Given the description of an element on the screen output the (x, y) to click on. 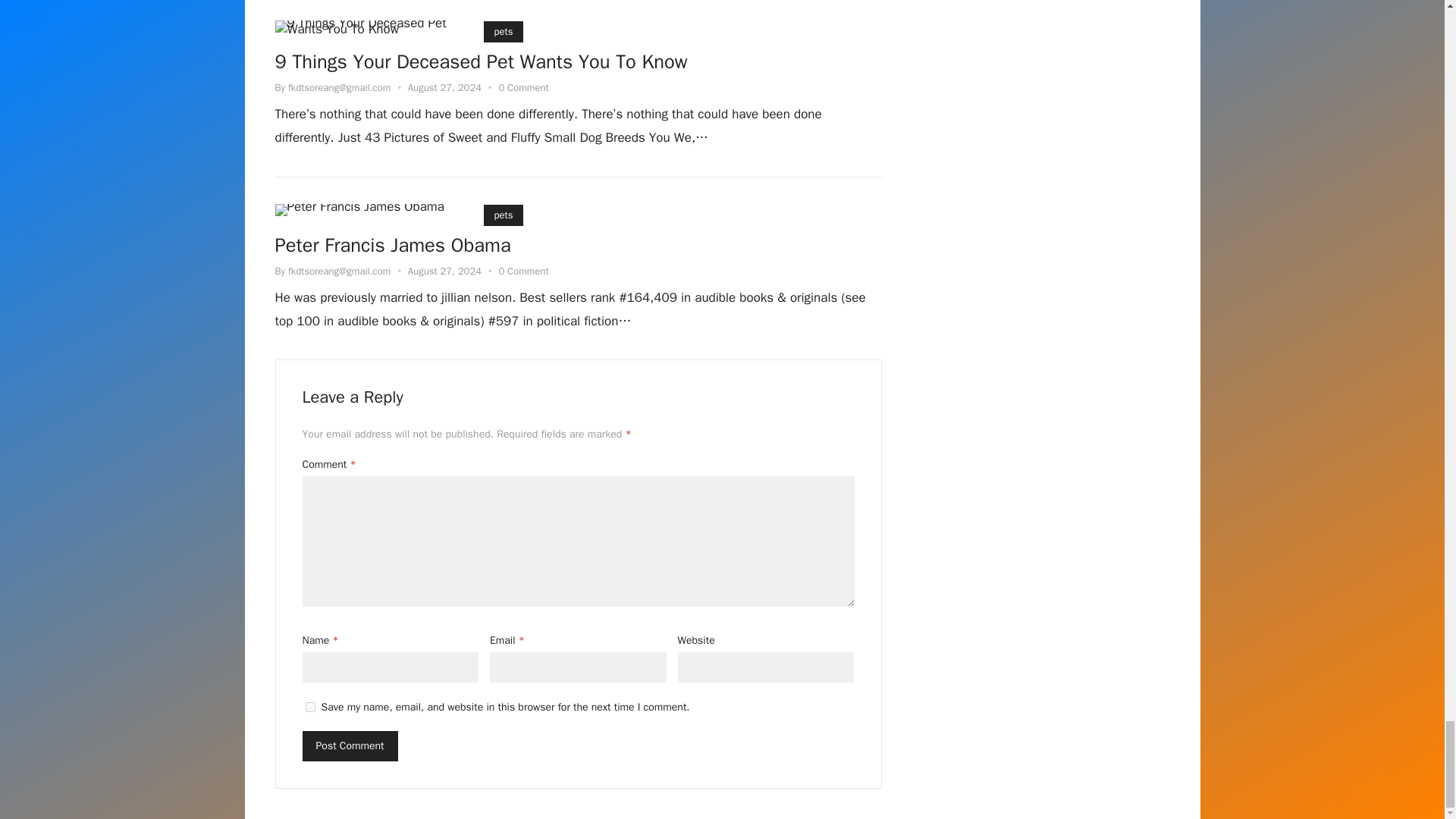
9 Things Your Deceased Pet Wants You To Know (369, 26)
Post Comment (349, 746)
9 Things Your Deceased Pet Wants You To Know (481, 63)
yes (309, 706)
Peter Francis James Obama (359, 209)
pets (503, 31)
